Given the description of an element on the screen output the (x, y) to click on. 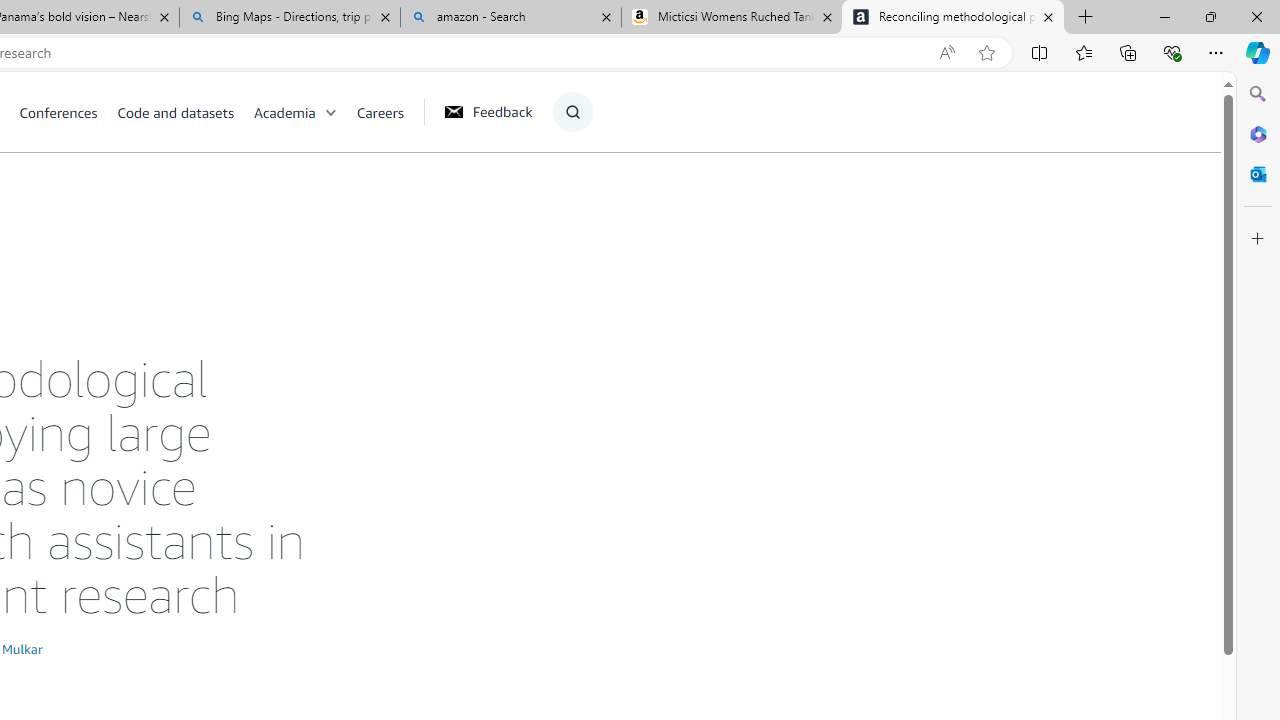
Class: chevron (330, 116)
Careers (389, 111)
Code and datasets (175, 111)
Academia (305, 111)
Class: icon-magnify (571, 111)
Code and datasets (184, 111)
Careers (379, 111)
